Given the description of an element on the screen output the (x, y) to click on. 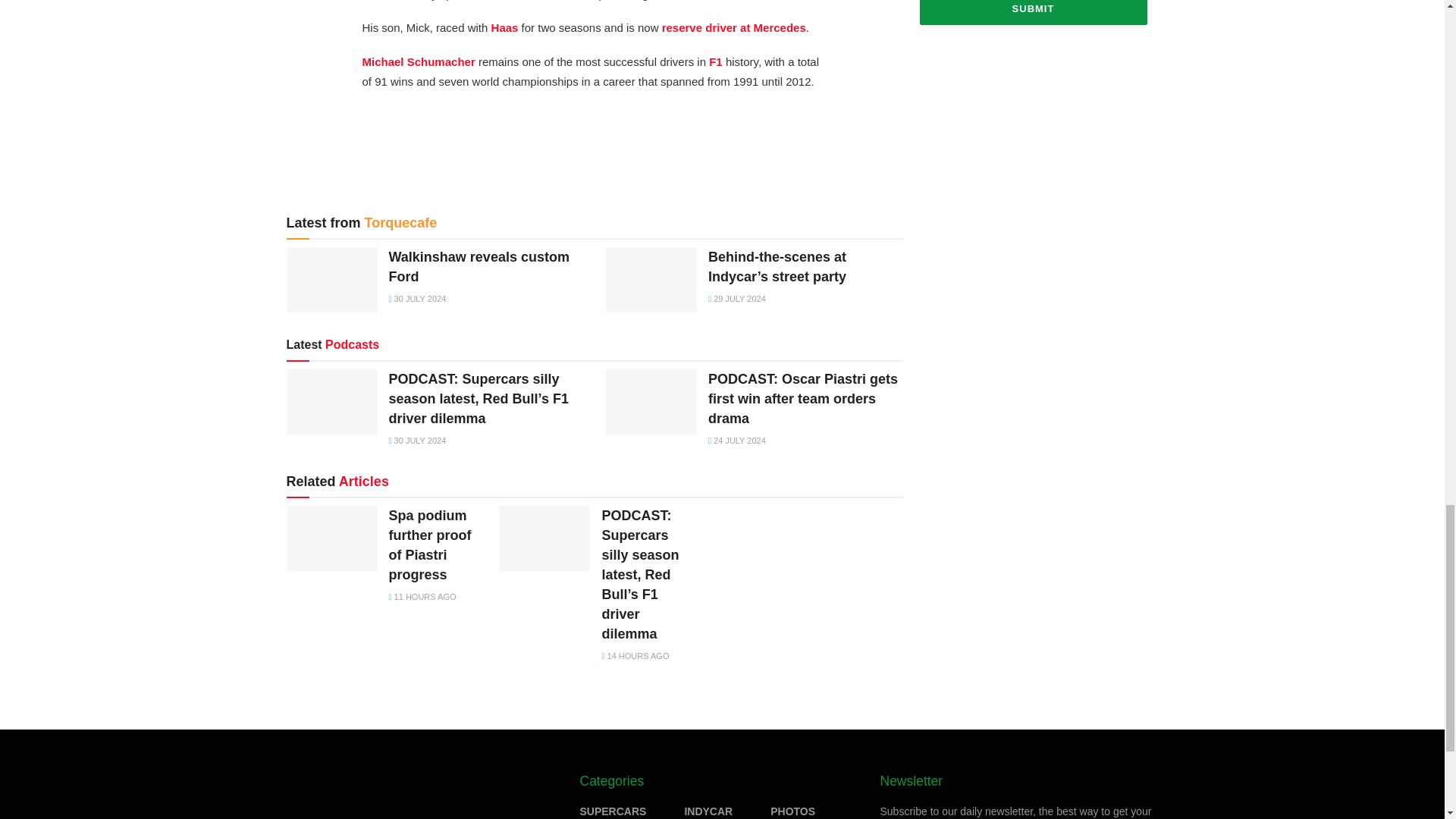
SUBMIT (1032, 12)
